Given the description of an element on the screen output the (x, y) to click on. 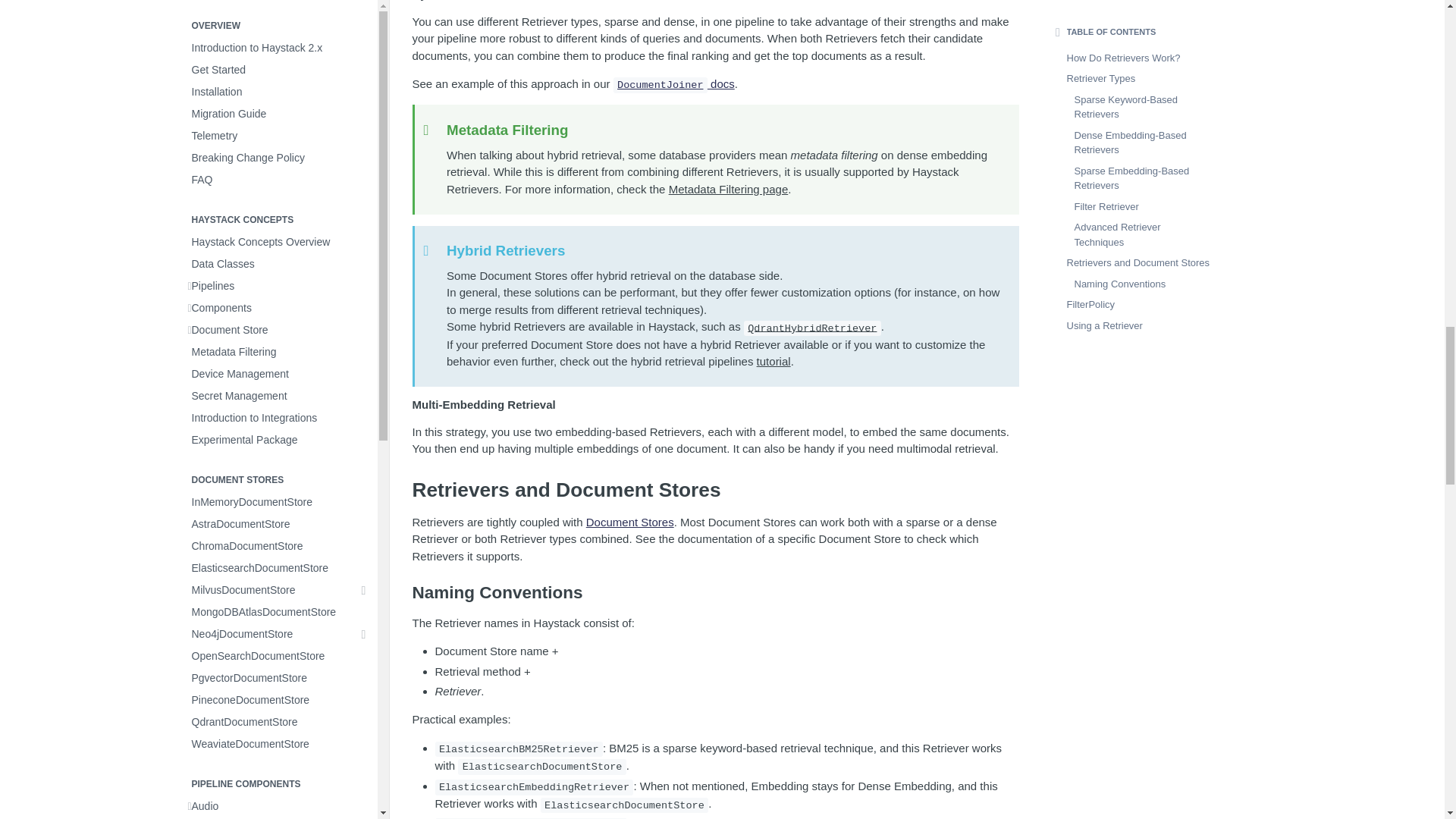
Retrievers and Document Stores (715, 489)
Naming Conventions (715, 592)
Multi-Embedding Retrieval (715, 405)
